Given the description of an element on the screen output the (x, y) to click on. 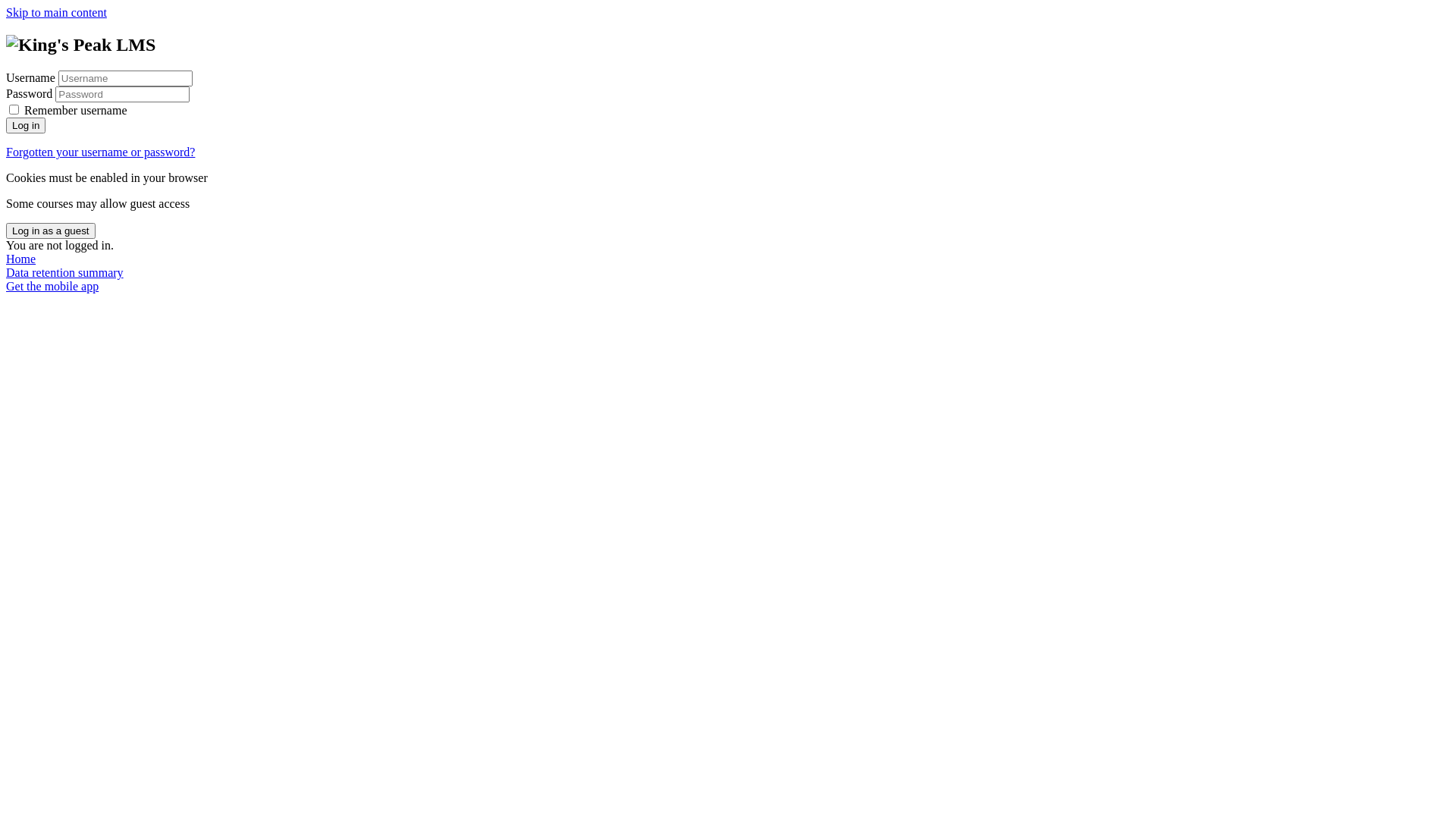
Log in as a guest Element type: text (50, 230)
Skip to main content Element type: text (56, 12)
Home Element type: text (20, 258)
Log in Element type: text (25, 125)
Get the mobile app Element type: text (52, 285)
Data retention summary Element type: text (64, 272)
King's Peak LMS Element type: hover (80, 44)
Forgotten your username or password? Element type: text (100, 151)
